Given the description of an element on the screen output the (x, y) to click on. 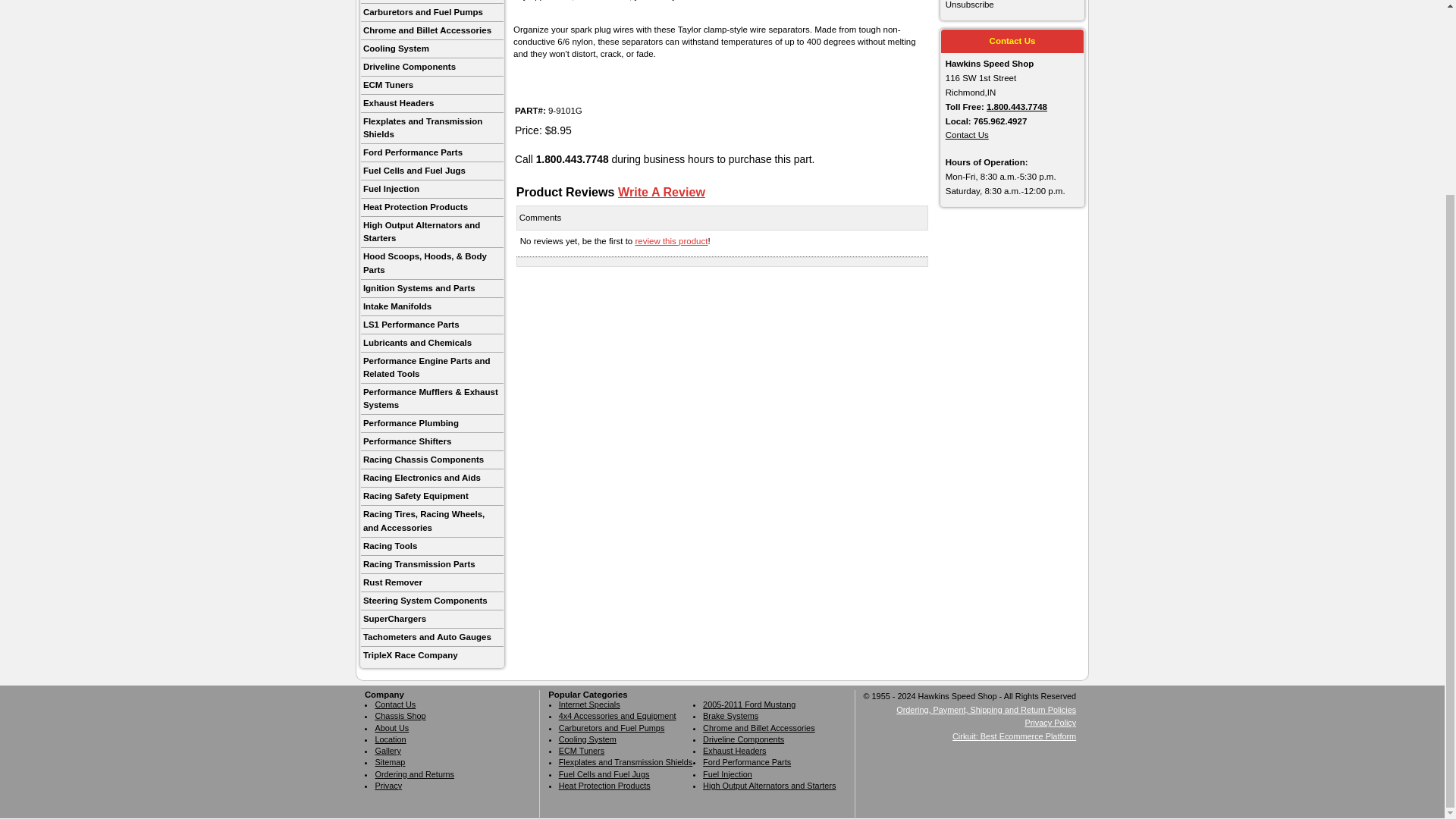
Fuel Cells and Fuel Jugs (432, 171)
Heat Protection Products (432, 208)
Performance Engine Parts and Related Tools (432, 368)
Racing Safety Equipment (432, 496)
LS1 Performance Parts (432, 325)
Flexplates and Transmission Shields (432, 128)
Brake Systems (432, 2)
Exhaust Headers (432, 104)
Racing Tires, Racing Wheels, and Accessories (432, 521)
Driveline Components (432, 67)
